Given the description of an element on the screen output the (x, y) to click on. 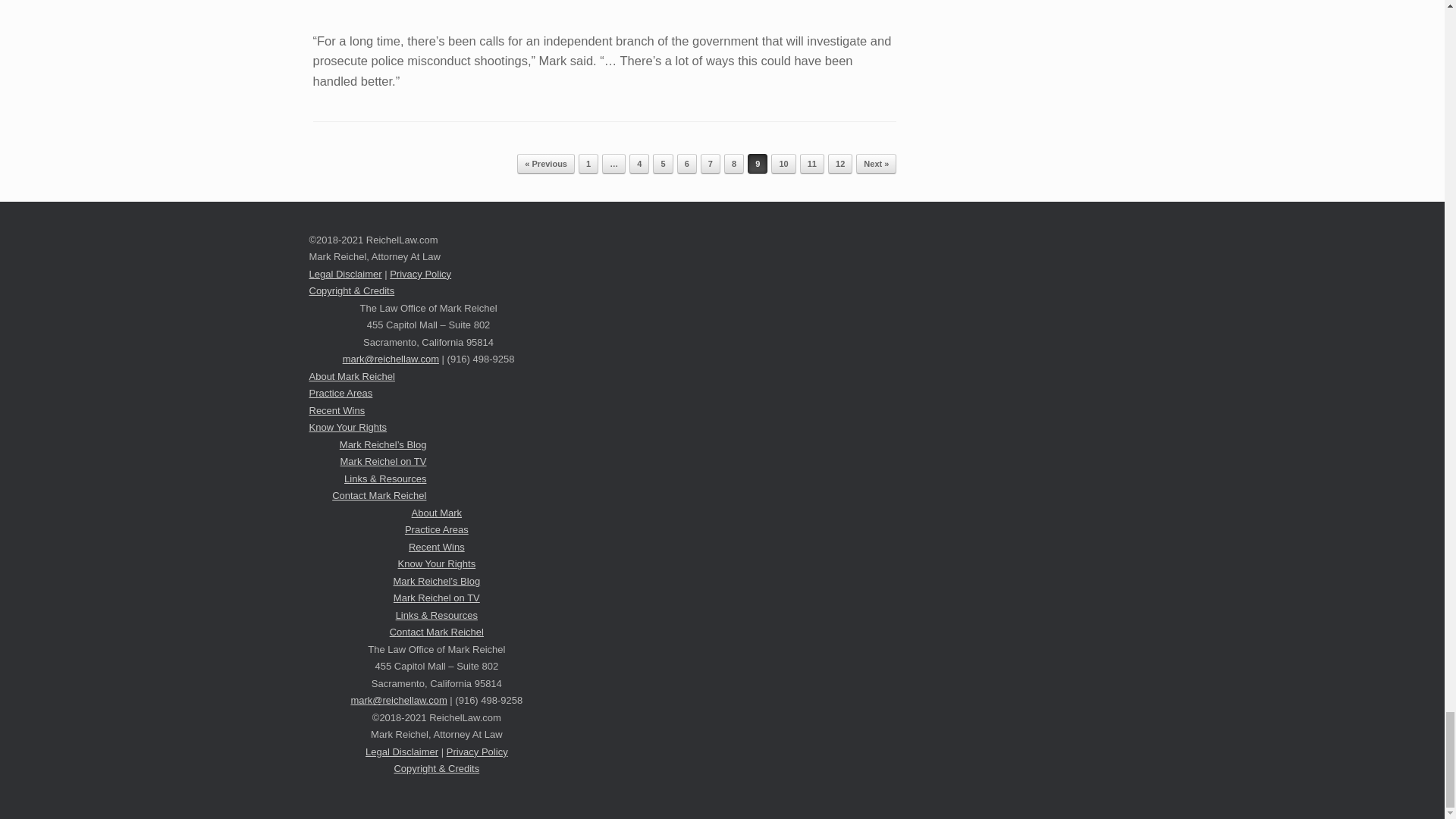
1 (588, 163)
